Given the description of an element on the screen output the (x, y) to click on. 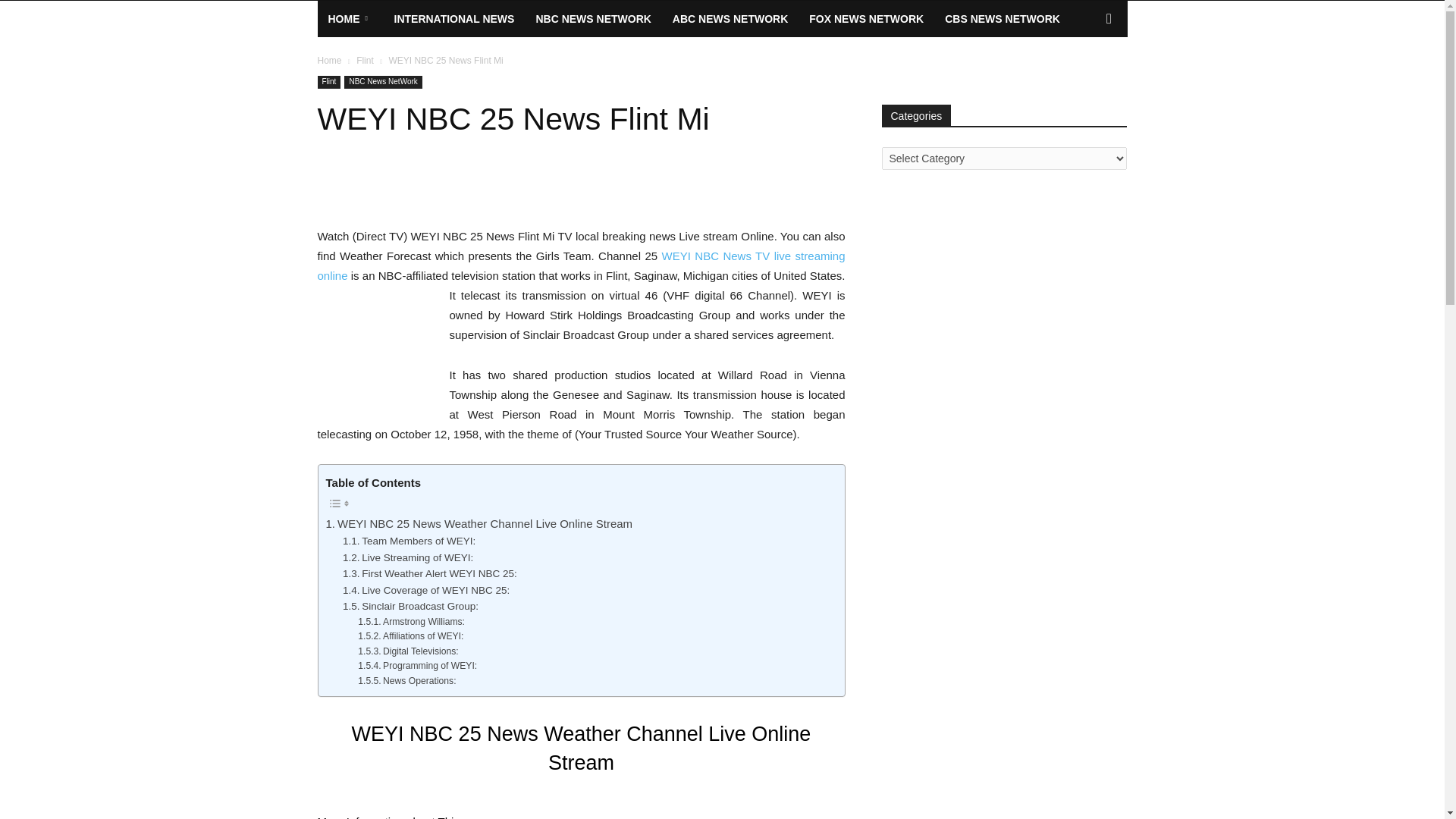
INTERNATIONAL NEWS (454, 18)
First Weather Alert WEYI NBC 25: (429, 573)
Armstrong Williams: (411, 622)
CBS NEWS NETWORK (1002, 18)
First Weather Alert WEYI NBC 25: (429, 573)
Search (1085, 79)
Flint (365, 60)
FOX NEWS NETWORK (865, 18)
Digital Televisions: (408, 651)
Live Streaming of WEYI: (407, 557)
